Given the description of an element on the screen output the (x, y) to click on. 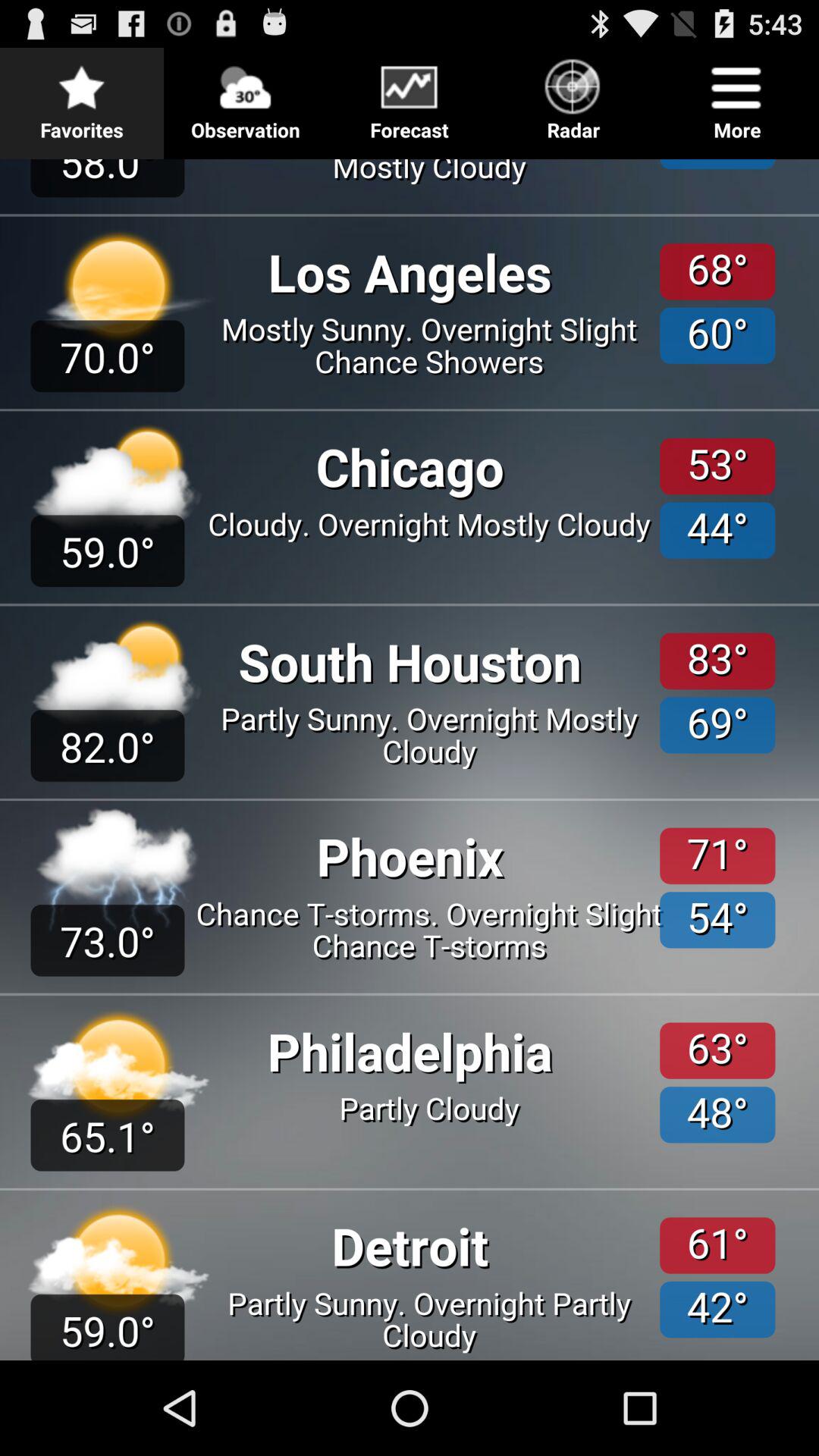
tap icon next to observation button (409, 95)
